Given the description of an element on the screen output the (x, y) to click on. 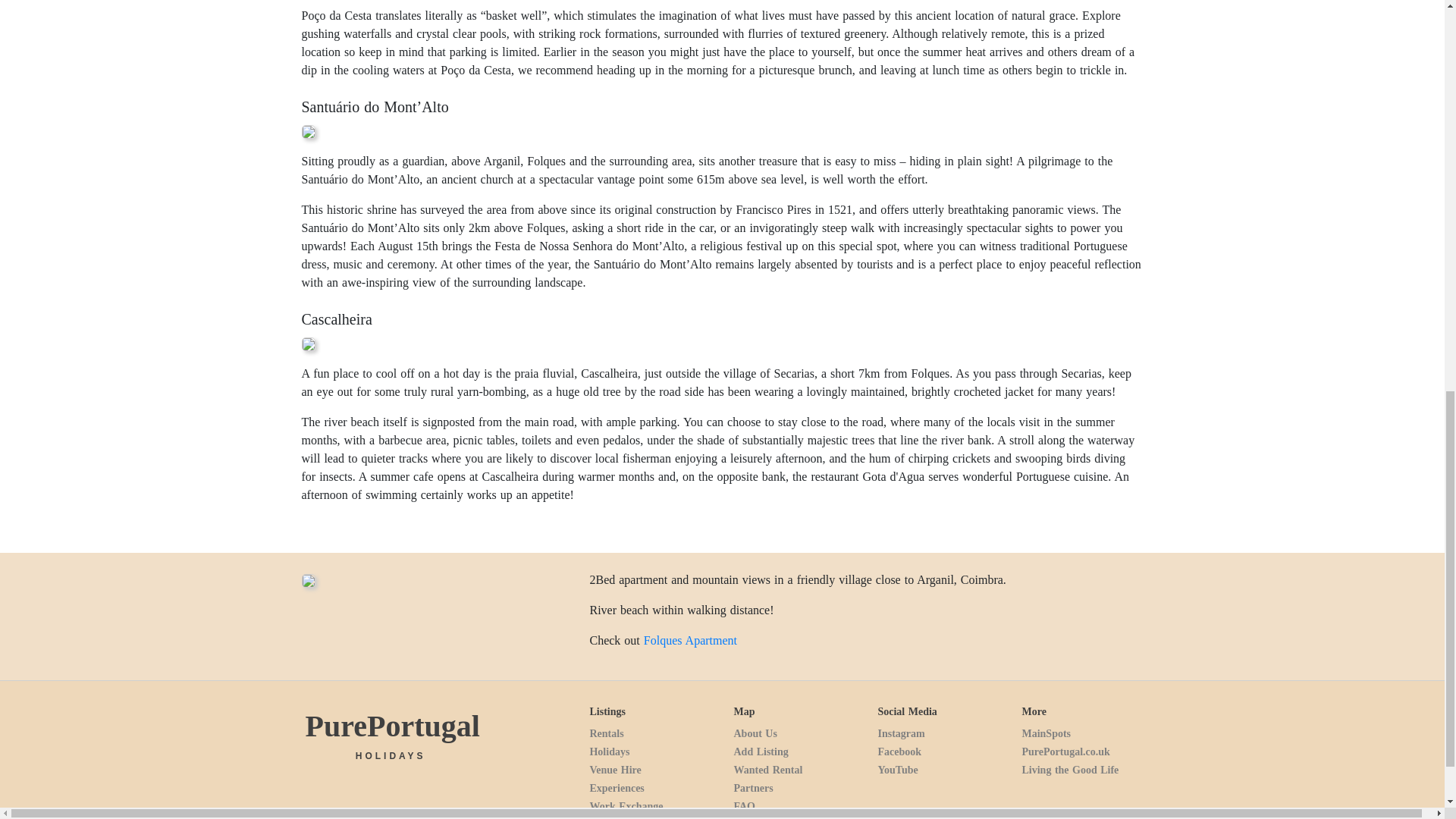
Work Exchange (625, 806)
YouTube (897, 769)
PurePortugal.co.uk (1065, 751)
Rentals (606, 733)
FAQ (744, 806)
Holidays (608, 751)
Experiences (616, 787)
Wanted Rental (767, 769)
Instagram (900, 733)
MainSpots (1046, 733)
